Given the description of an element on the screen output the (x, y) to click on. 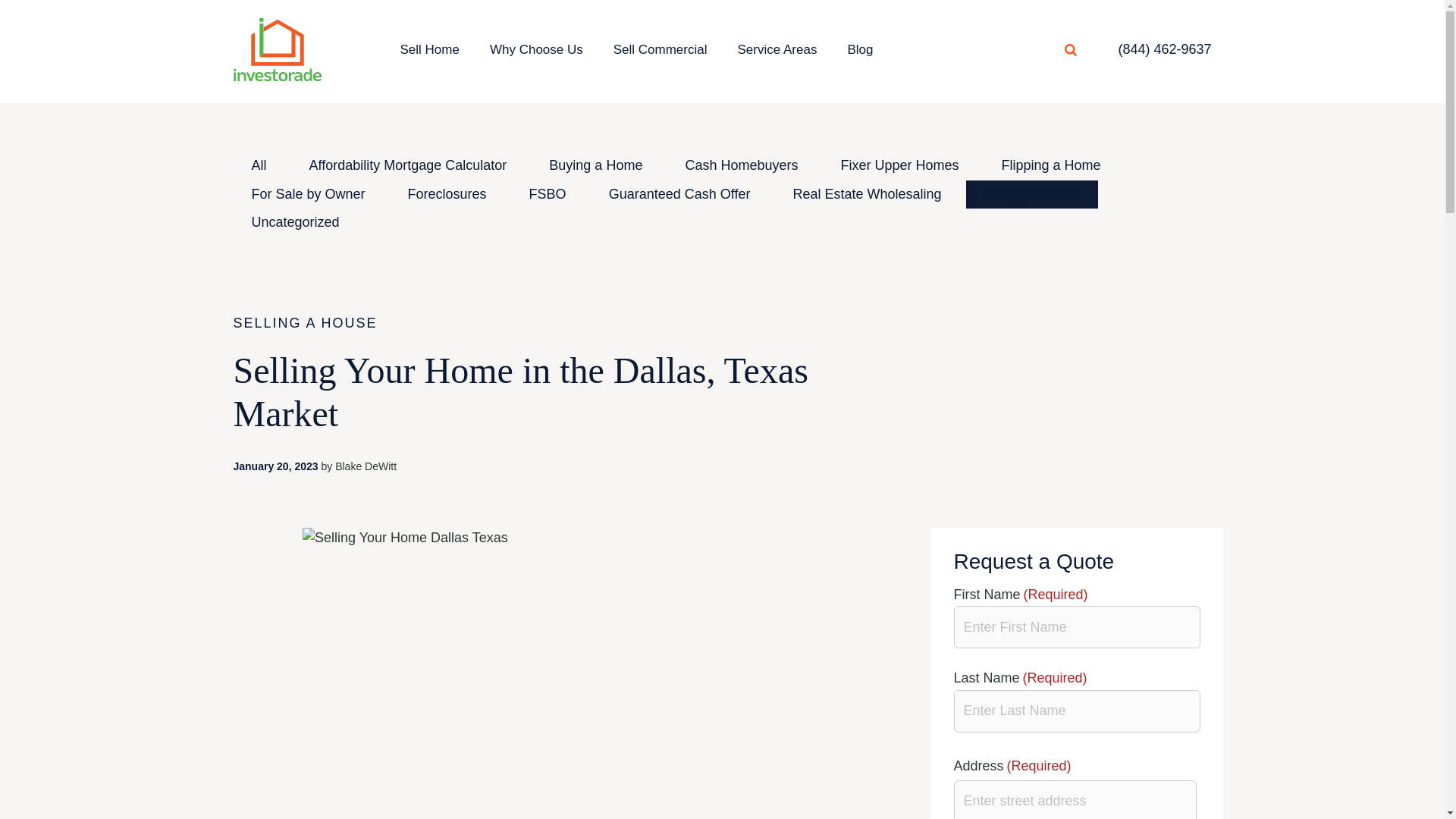
Sell Commercial (660, 49)
Sell Home (429, 49)
Why Choose Us (536, 49)
Home (276, 48)
Service Areas (776, 49)
